Given the description of an element on the screen output the (x, y) to click on. 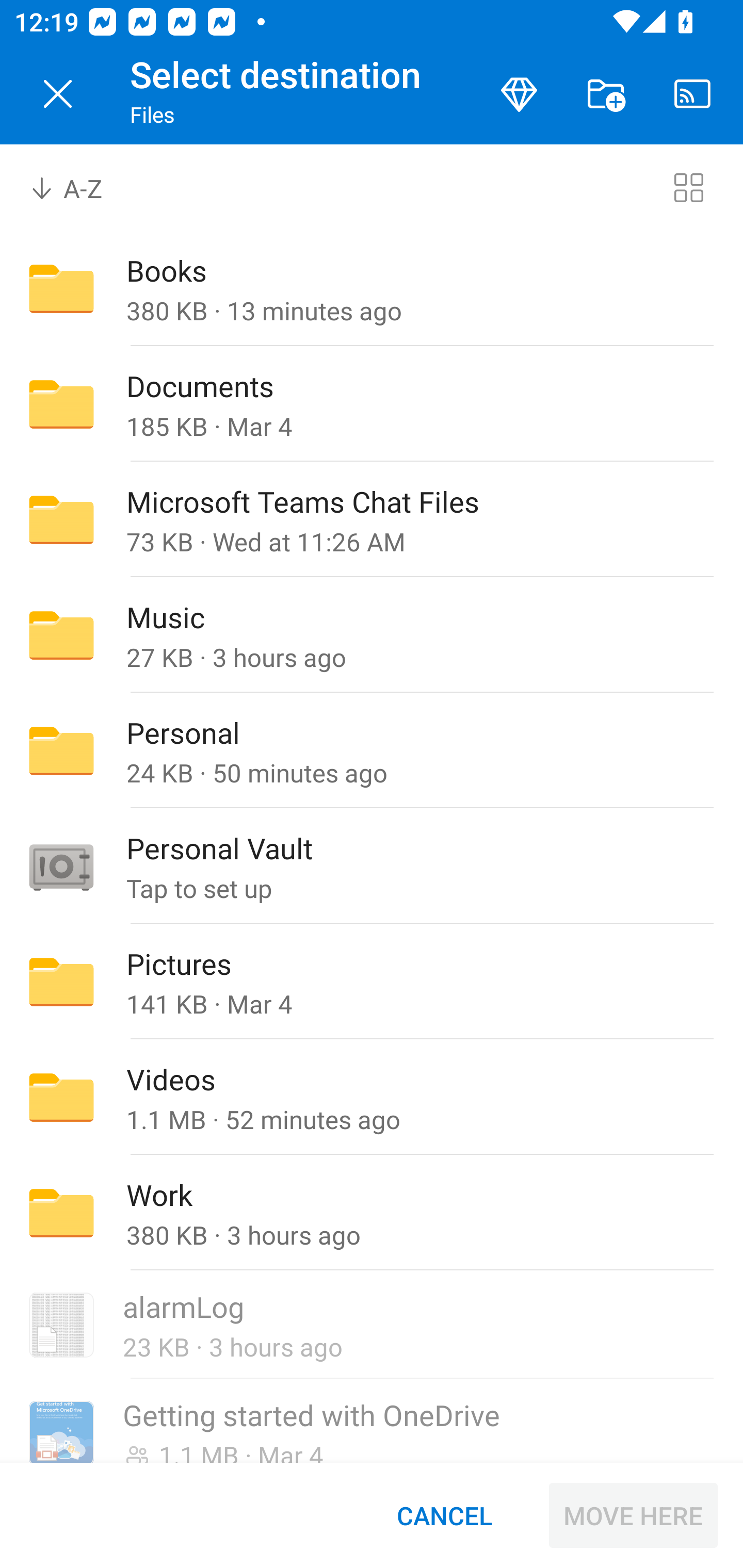
Close (57, 93)
Cast. Disconnected (692, 93)
Premium button (518, 93)
More actions button (605, 93)
A-Z Sort by combo box, sort by name, A to Z (80, 187)
Switch to tiles view (688, 187)
Folder Books 380 KB · 13 minutes ago (371, 288)
Folder Documents 185 KB · Mar 4 (371, 404)
Folder Music 27 KB · 3 hours ago (371, 635)
Folder Personal 24 KB · 50 minutes ago (371, 751)
Folder Personal Vault Tap to set up (371, 866)
Folder Pictures 141 KB · Mar 4 (371, 981)
Folder Videos 1.1 MB · 52 minutes ago (371, 1097)
Folder Work 380 KB · 3 hours ago (371, 1213)
Document alarmLog 23 KB · 3 hours ago (371, 1325)
CANCEL (443, 1515)
MOVE HERE (633, 1515)
